Given the description of an element on the screen output the (x, y) to click on. 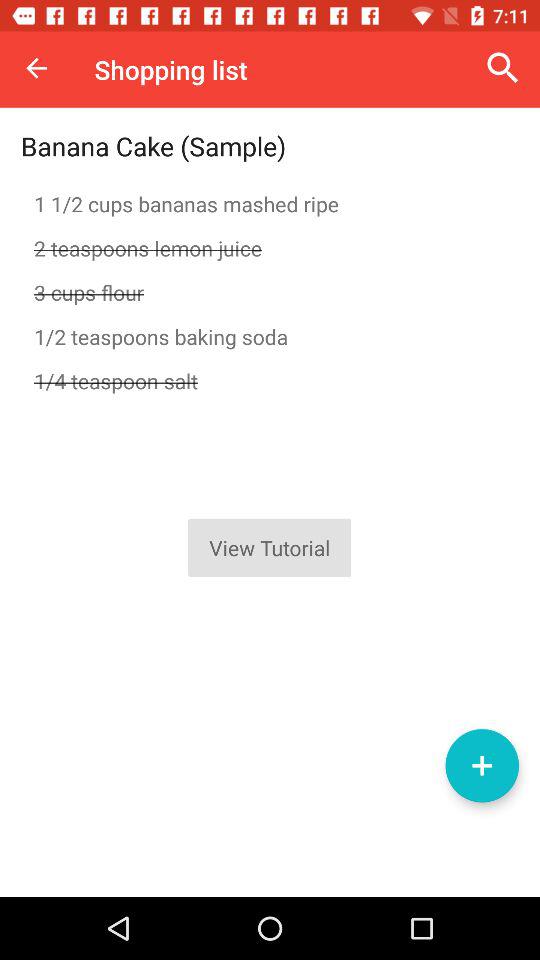
turn on the item above 1 1 2 item (503, 67)
